Given the description of an element on the screen output the (x, y) to click on. 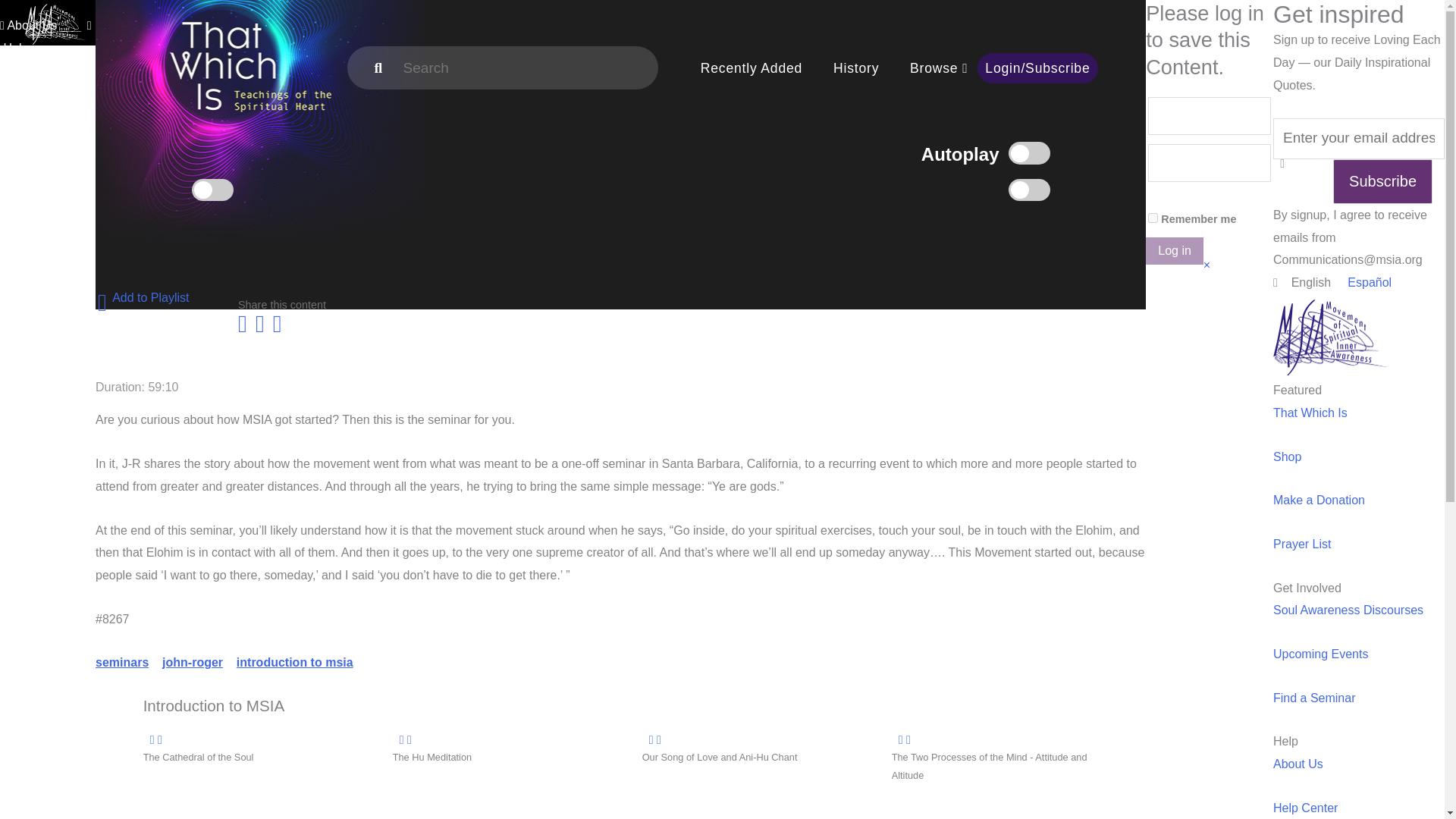
forever (1152, 217)
 Help (45, 36)
 About Us (28, 24)
